Given the description of an element on the screen output the (x, y) to click on. 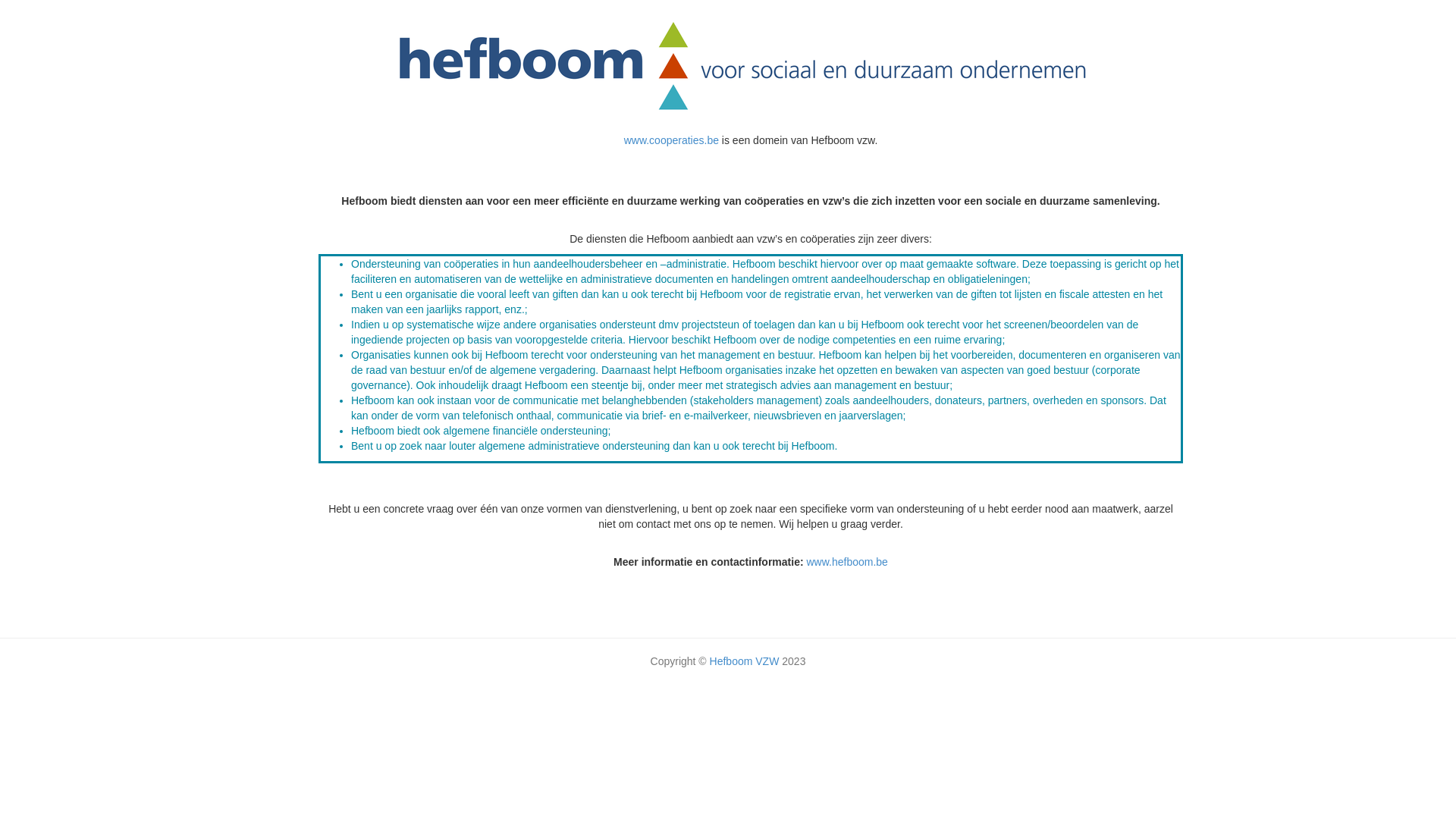
Hefboom VZW Element type: text (744, 661)
www.hefboom.be Element type: text (846, 561)
www.cooperaties.be Element type: text (672, 140)
